Given the description of an element on the screen output the (x, y) to click on. 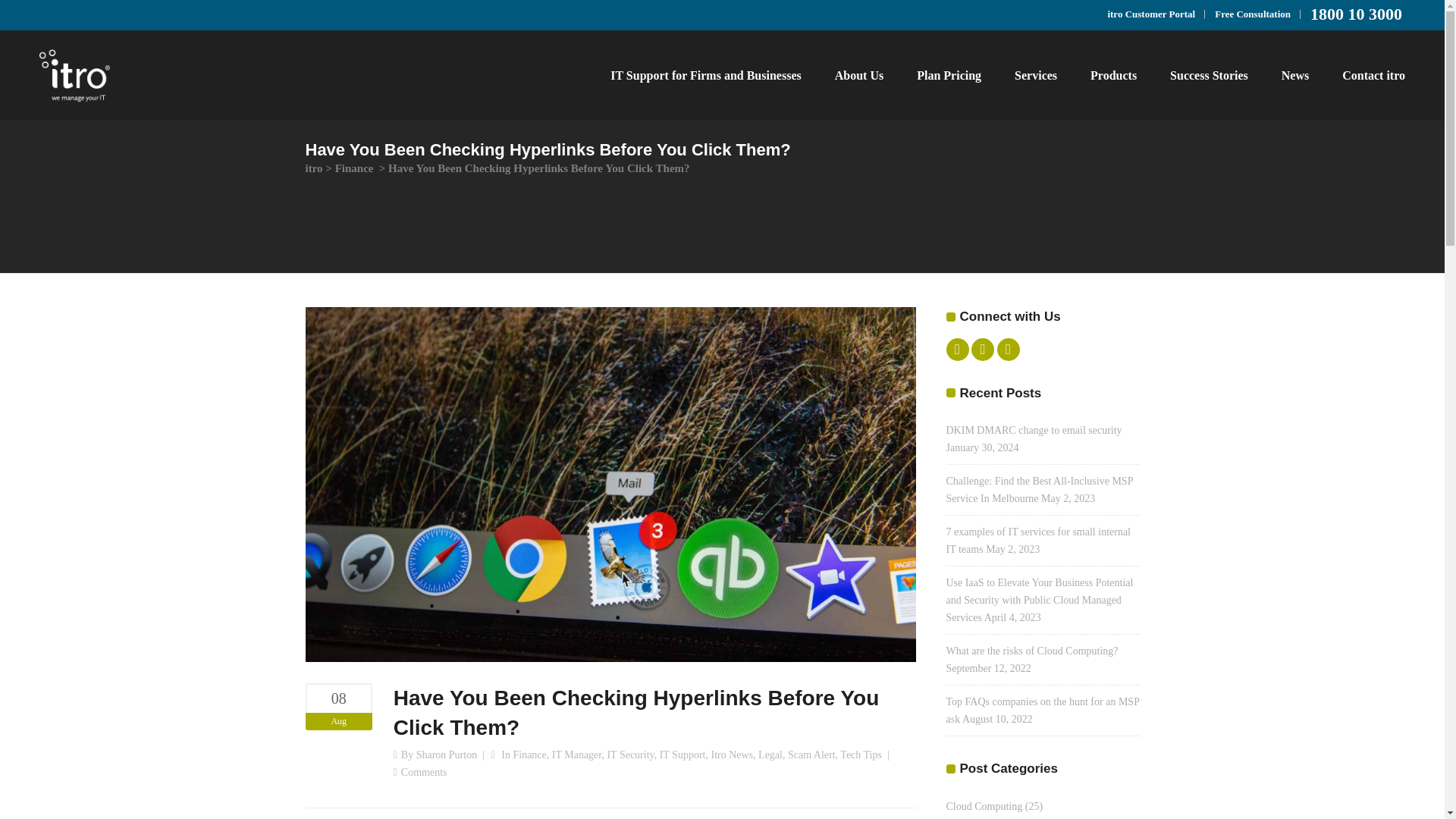
Contact itro (1373, 75)
Free Consultation (1257, 13)
Plan Pricing (948, 75)
1800 10 3000 (1361, 13)
itro Customer Portal (1155, 13)
IT Support for Firms and Businesses (705, 75)
Success Stories (1208, 75)
